Given the description of an element on the screen output the (x, y) to click on. 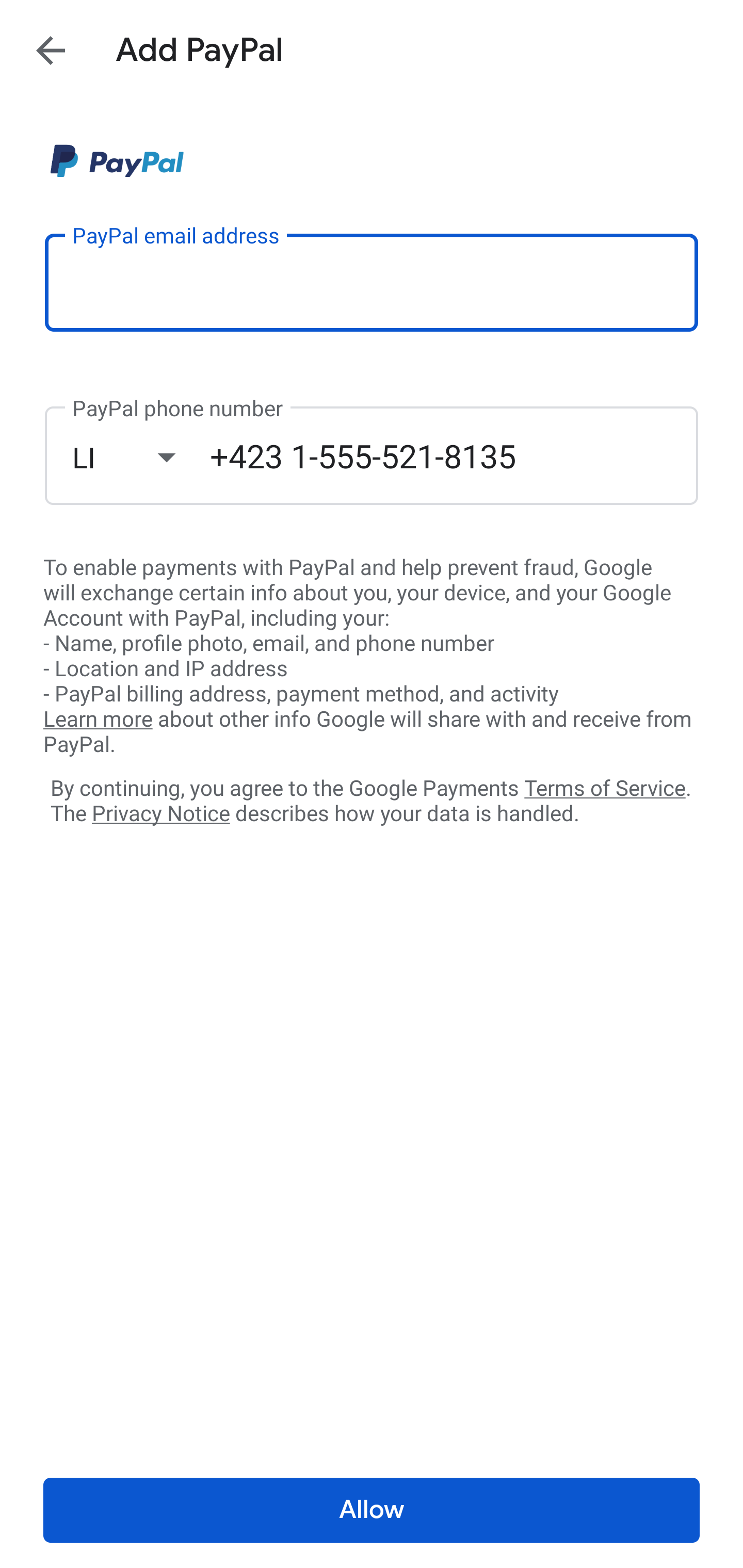
Navigate up (50, 50)
PayPal email address (371, 282)
LI (141, 456)
Learn more (97, 719)
Terms of Service (604, 787)
Privacy Notice (160, 814)
Allow (371, 1510)
